Given the description of an element on the screen output the (x, y) to click on. 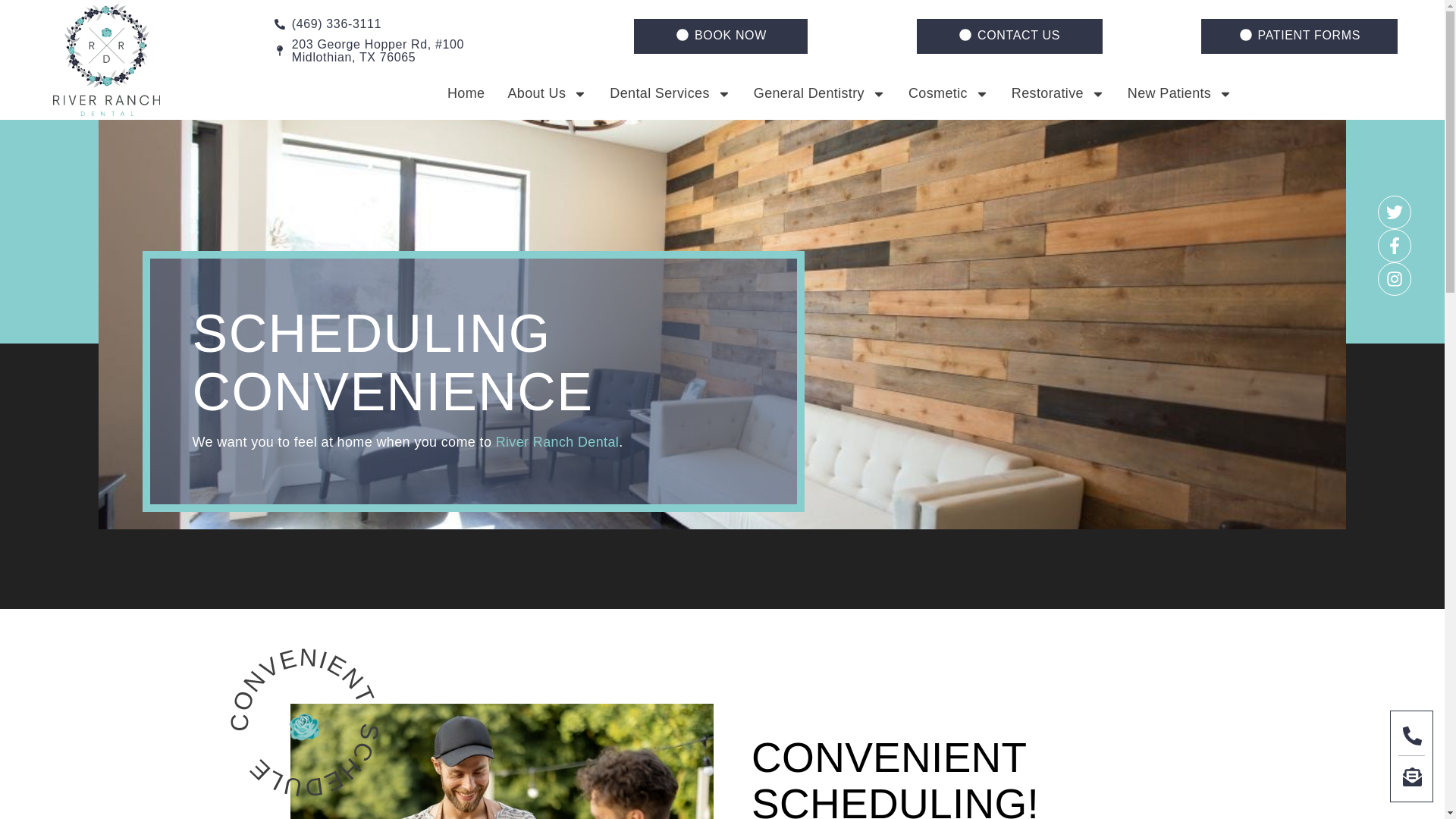
CONVENIENT SCHEDULE (304, 722)
Midlothian TX Best Dental Office (558, 441)
